Given the description of an element on the screen output the (x, y) to click on. 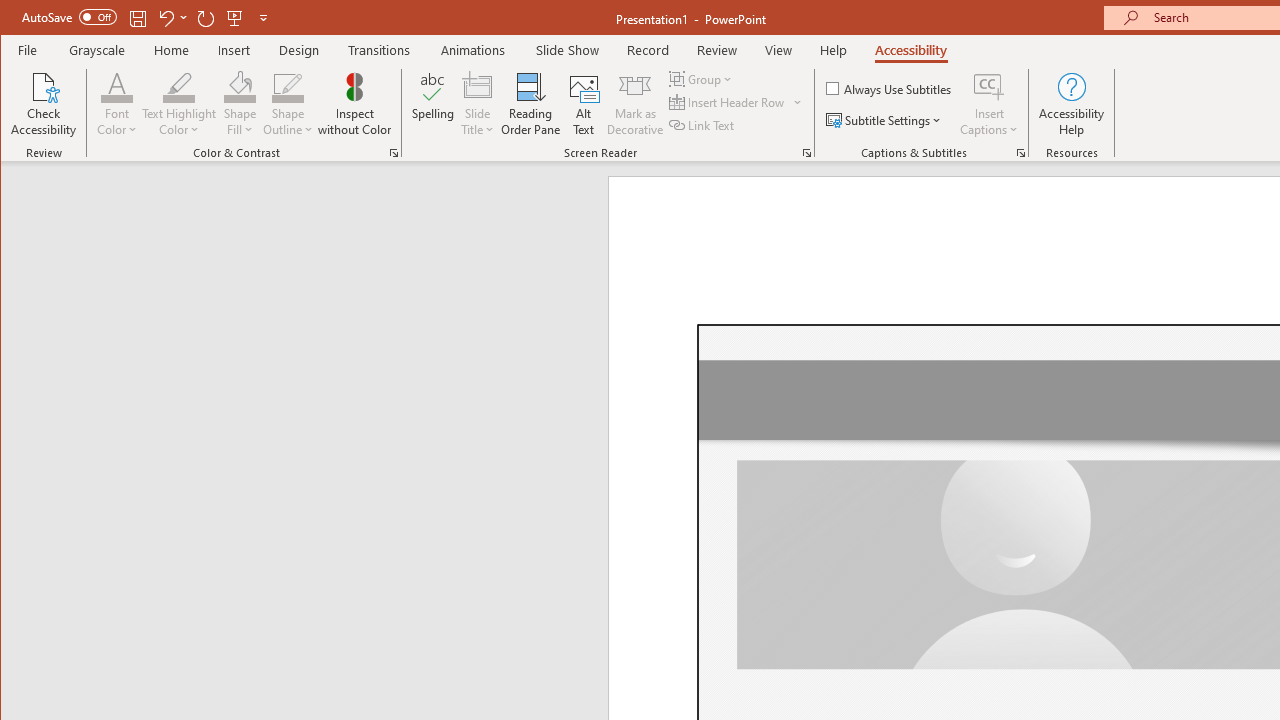
Shape Outline Blue, Accent 1 (288, 86)
Reading Order Pane (531, 104)
Color & Contrast (393, 152)
Screen Reader (806, 152)
Alt Text (584, 104)
